Given the description of an element on the screen output the (x, y) to click on. 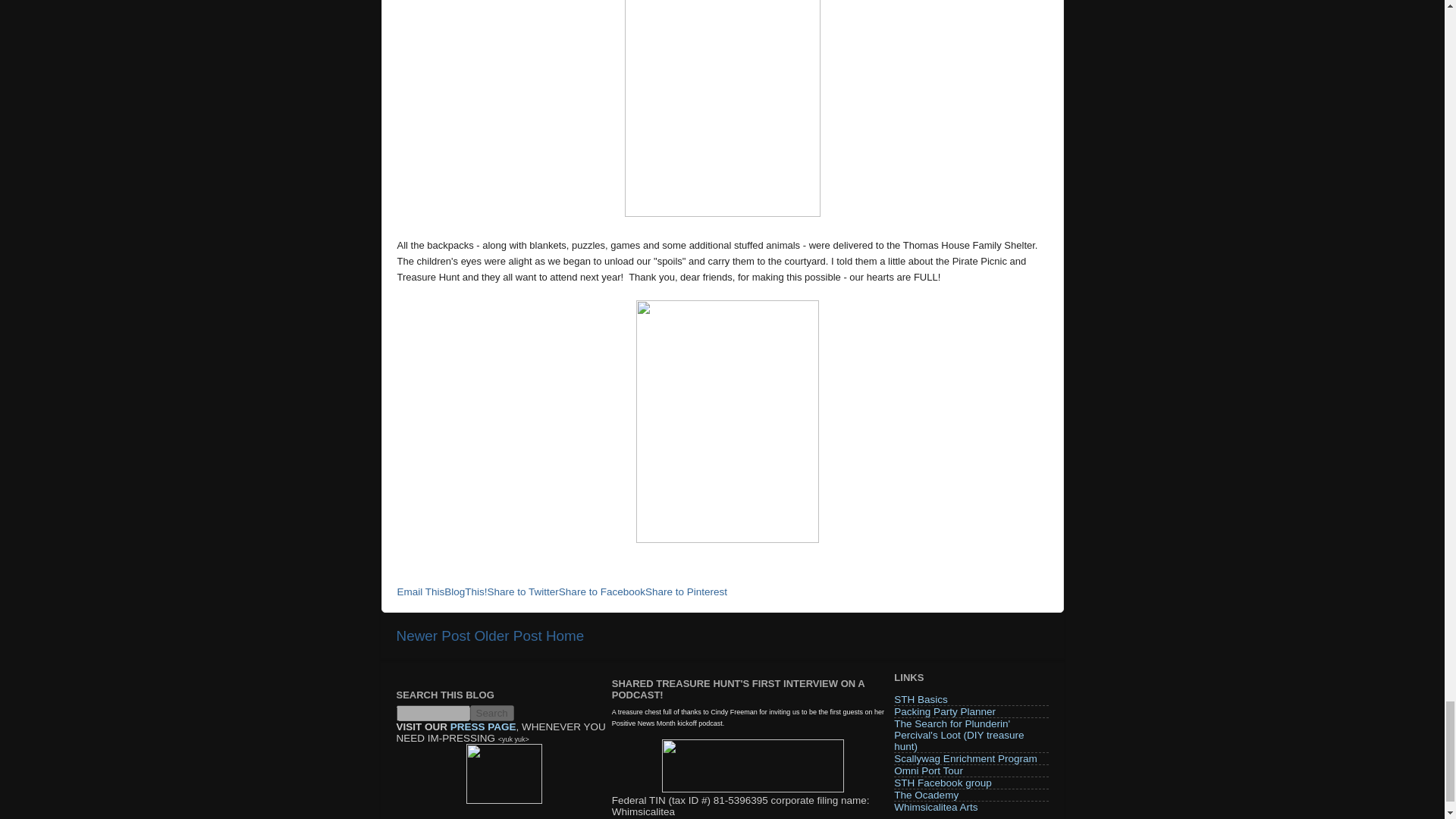
Older Post (507, 635)
Share to Pinterest (685, 591)
search (491, 713)
Newer Post (433, 635)
Share to Facebook (602, 591)
Older Post (507, 635)
Search (491, 713)
Search (491, 713)
Share to Twitter (523, 591)
BlogThis! (465, 591)
Email This (421, 591)
Share to Twitter (523, 591)
Newer Post (433, 635)
search (432, 713)
BlogThis! (465, 591)
